Given the description of an element on the screen output the (x, y) to click on. 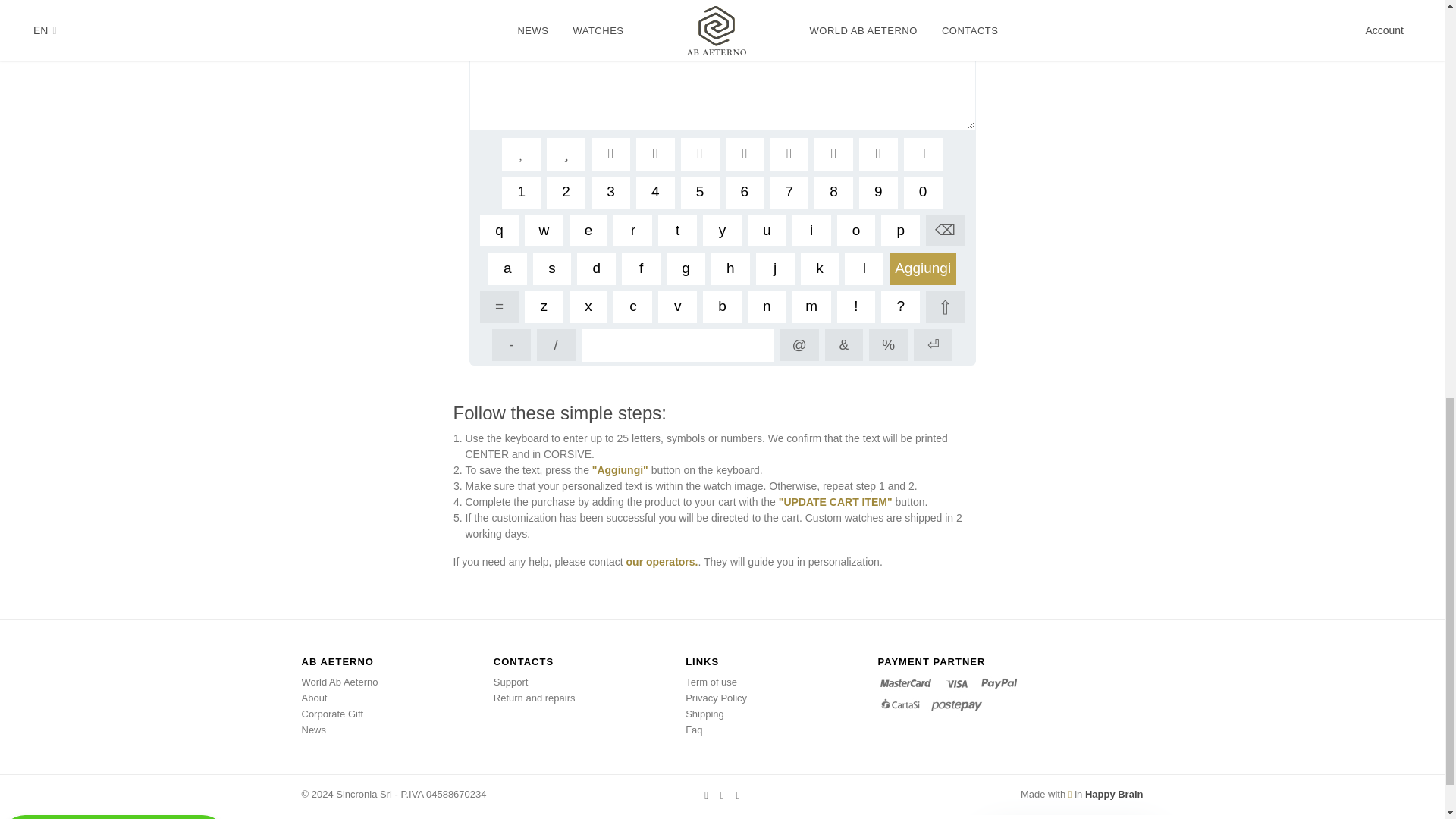
Space (677, 345)
Enter (933, 345)
Aggiungi (922, 268)
Backspace (944, 230)
Shift (944, 306)
